Given the description of an element on the screen output the (x, y) to click on. 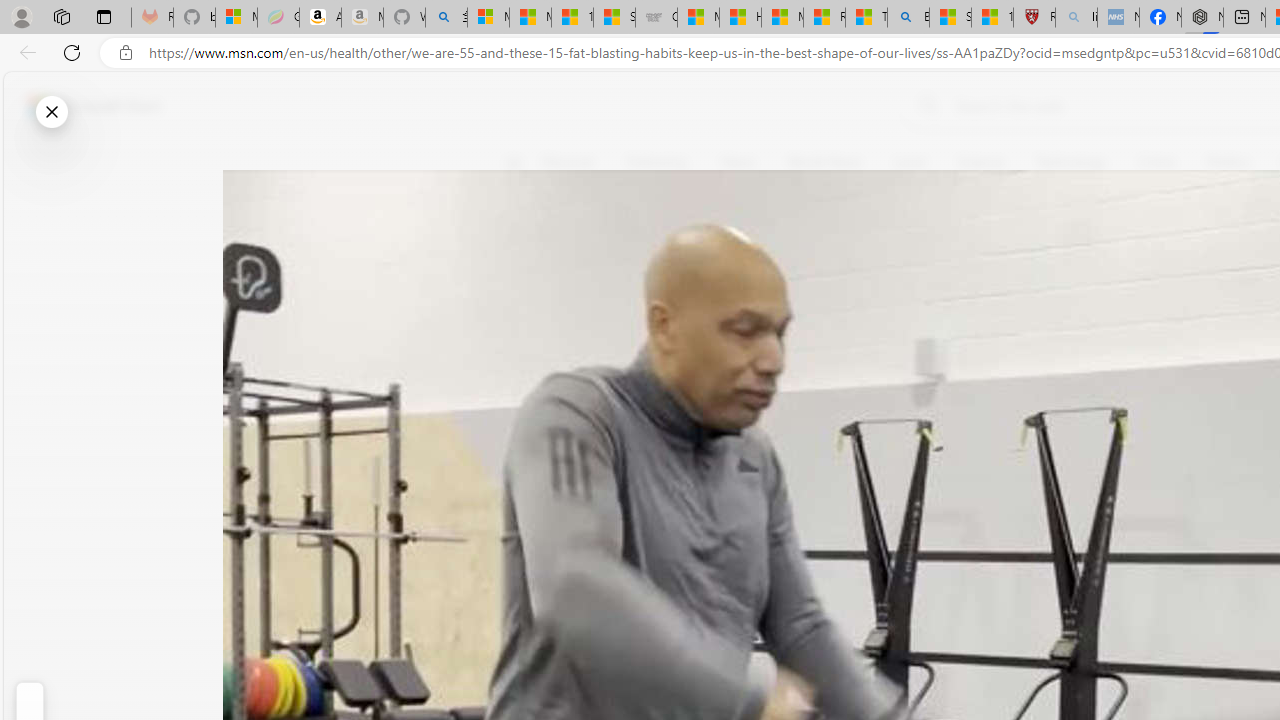
How I Got Rid of Microsoft Edge's Unnecessary Features (740, 17)
Open navigation menu (513, 162)
Robert H. Shmerling, MD - Harvard Health (1033, 17)
6 (525, 300)
6 Like (525, 244)
Class: button-glyph (513, 162)
